Given the description of an element on the screen output the (x, y) to click on. 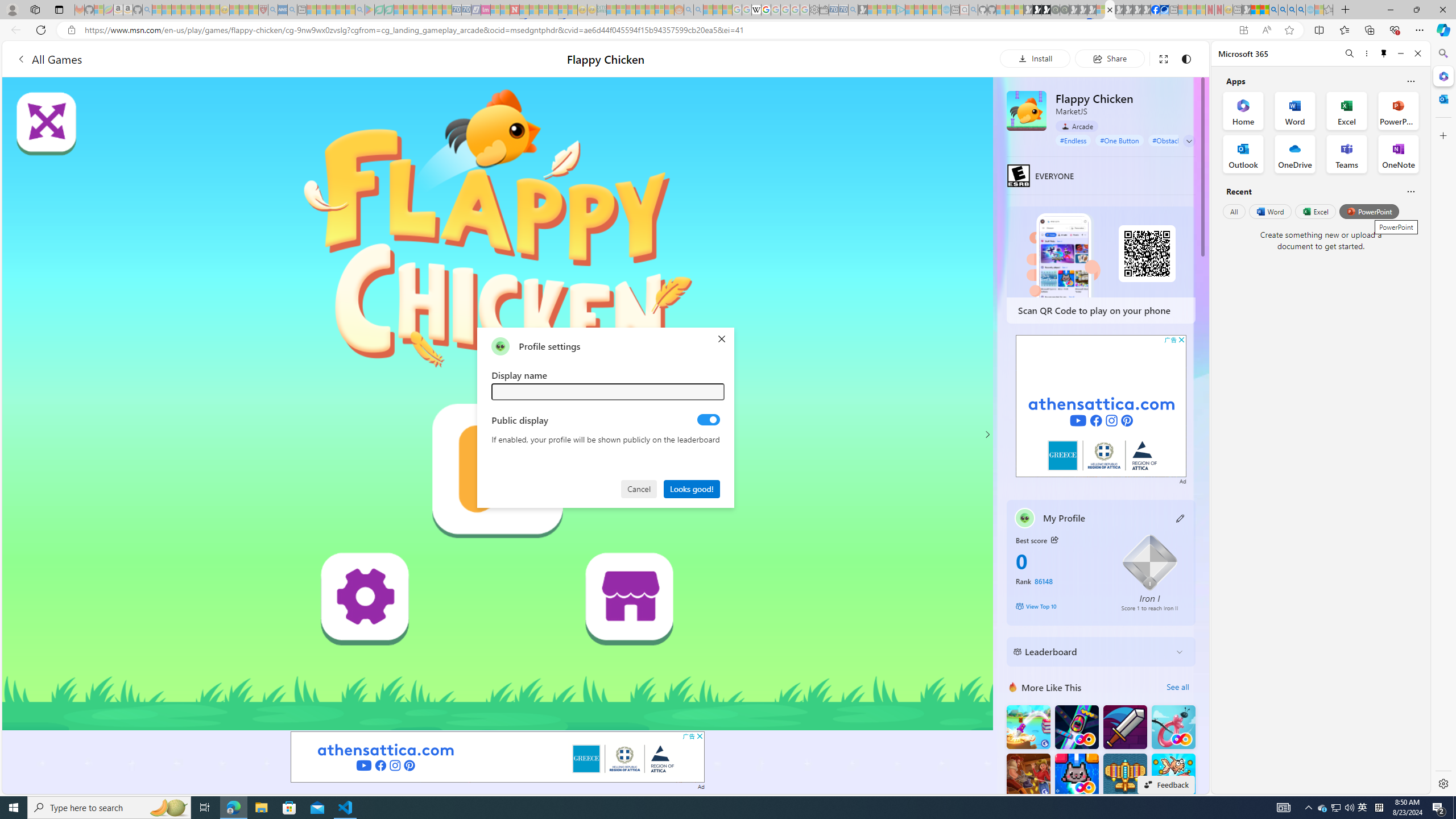
Cheap Hotels - Save70.com - Sleeping (466, 9)
Bumper Car FRVR (1076, 726)
DITOGAMES AG Imprint - Sleeping (601, 9)
Target page - Wikipedia (755, 9)
All Games (212, 58)
Cancel (639, 488)
Utah sues federal government - Search - Sleeping (697, 9)
New Report Confirms 2023 Was Record Hot | Watch - Sleeping (195, 9)
Advertisement (1101, 405)
